Given the description of an element on the screen output the (x, y) to click on. 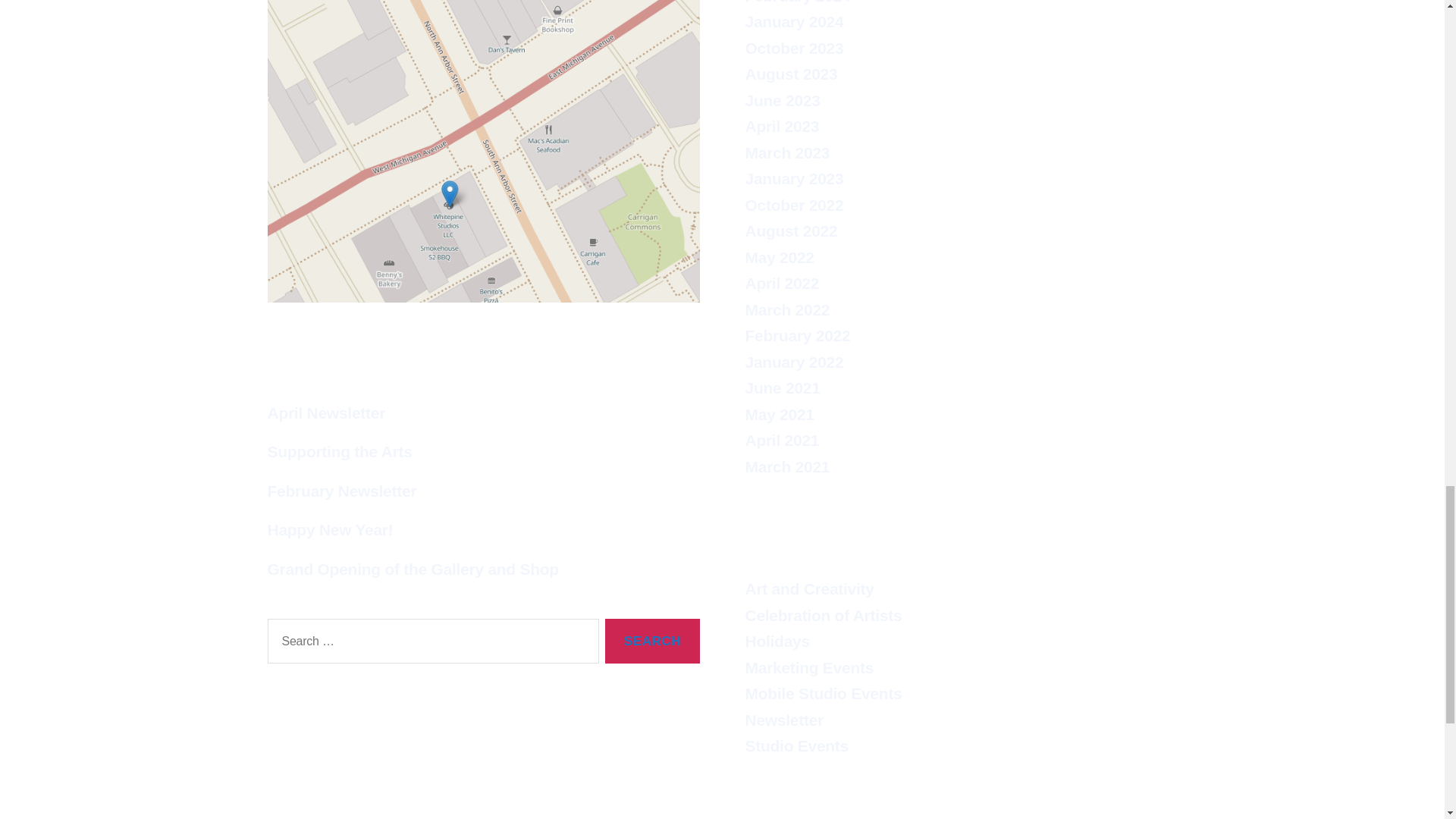
Search (651, 641)
Search (651, 641)
